Given the description of an element on the screen output the (x, y) to click on. 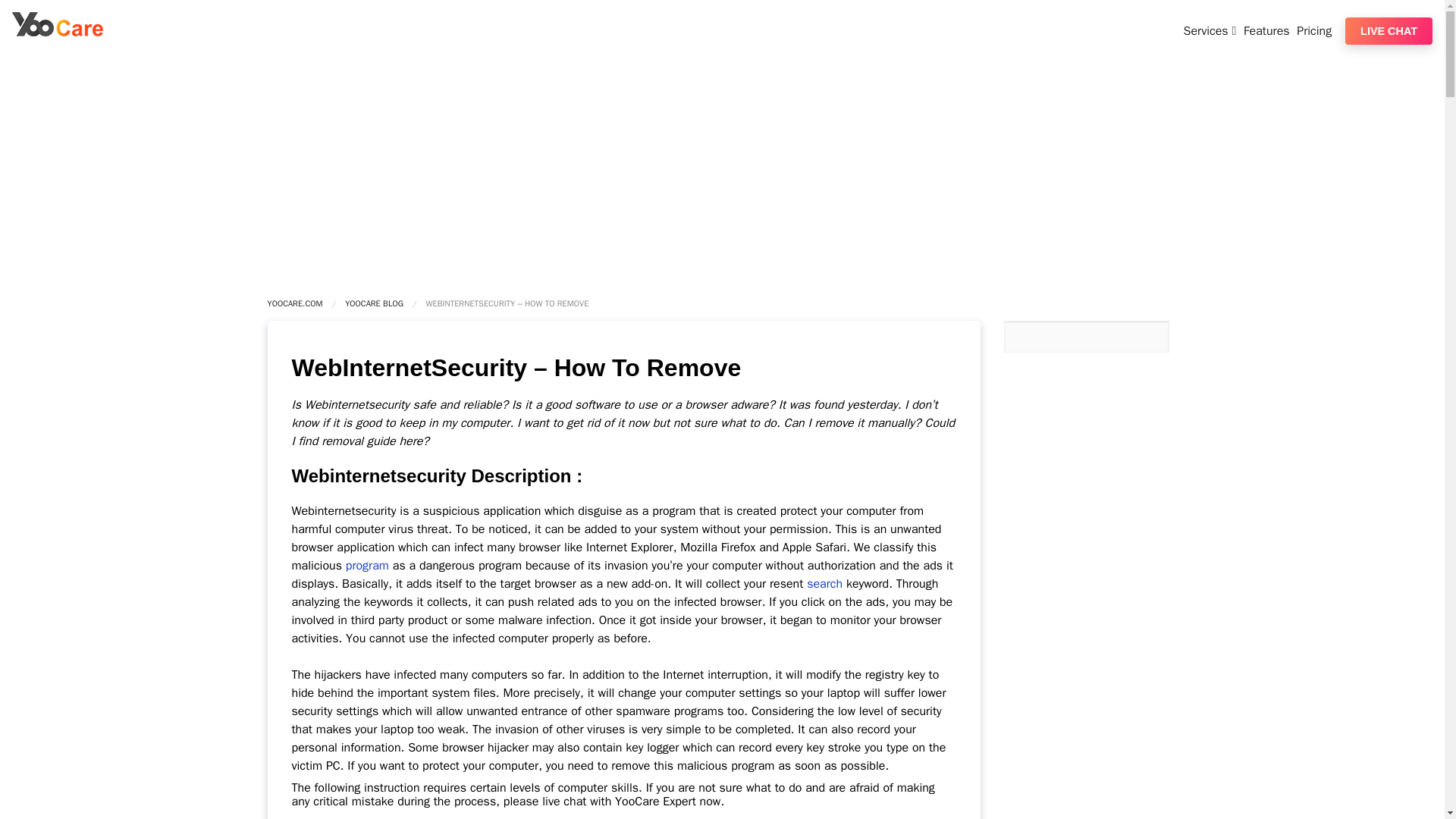
Pricing (1316, 30)
back to YooCare blog home page (374, 303)
YOOCARE BLOG (374, 303)
Services (1211, 30)
Features (1268, 30)
program (367, 565)
YOOCARE.COM (293, 303)
search (824, 583)
YooCare (57, 32)
LIVE CHAT (1388, 31)
